Given the description of an element on the screen output the (x, y) to click on. 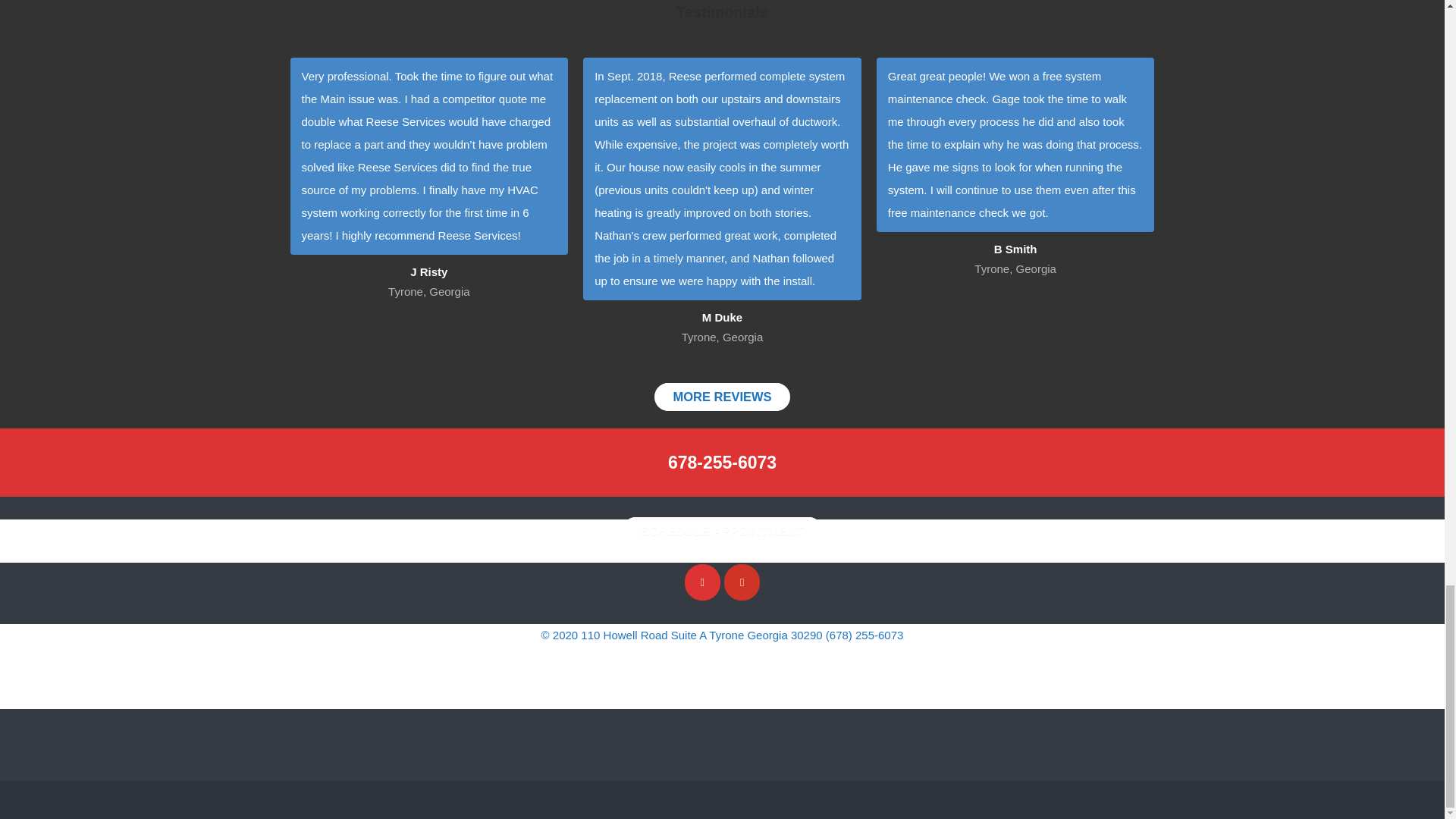
Reviews (721, 397)
Reese Services on Youtube (741, 582)
Reese Services on Facebook (702, 582)
